Given the description of an element on the screen output the (x, y) to click on. 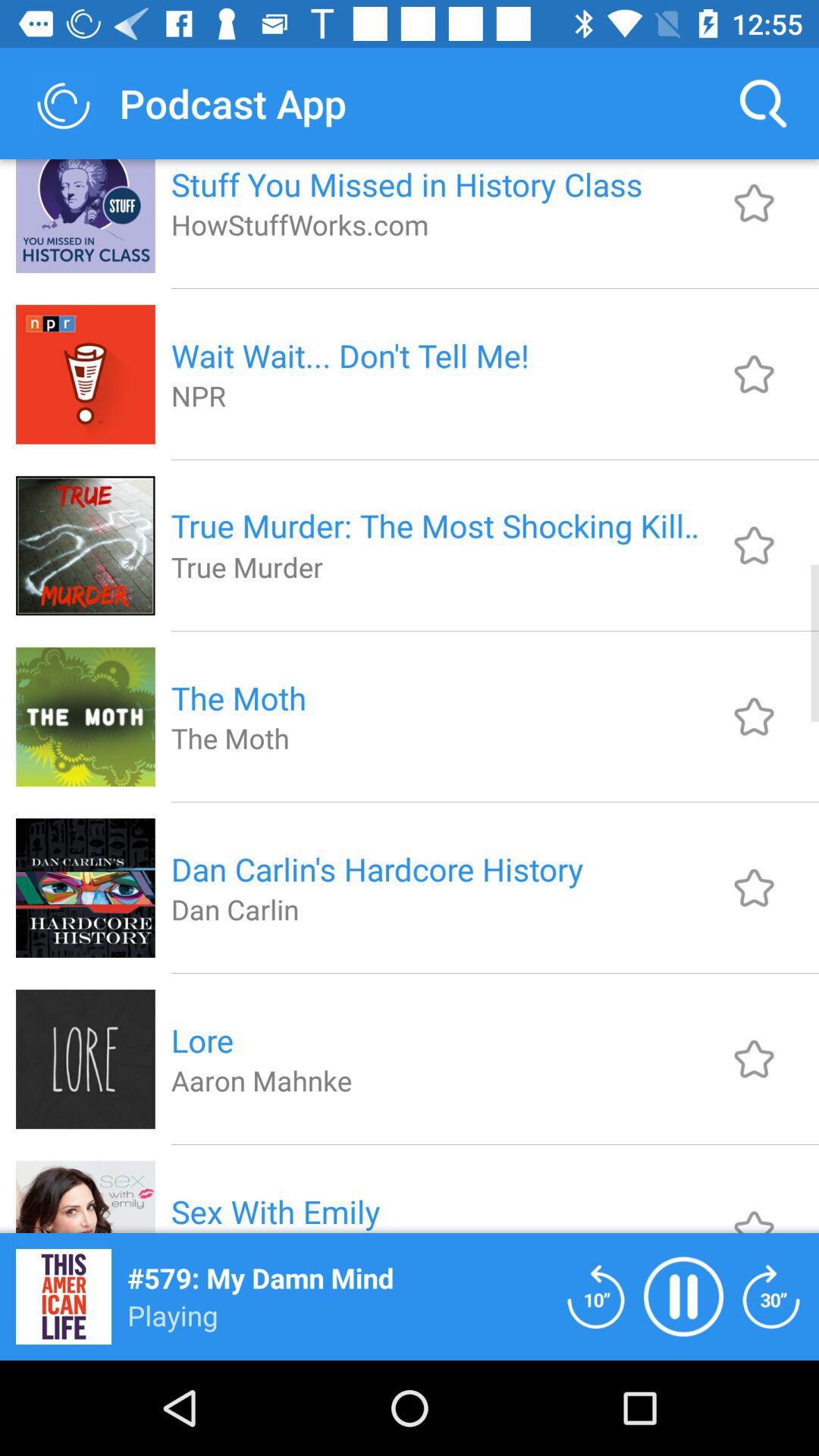
turn on item to the right of stuff you missed item (763, 103)
